Given the description of an element on the screen output the (x, y) to click on. 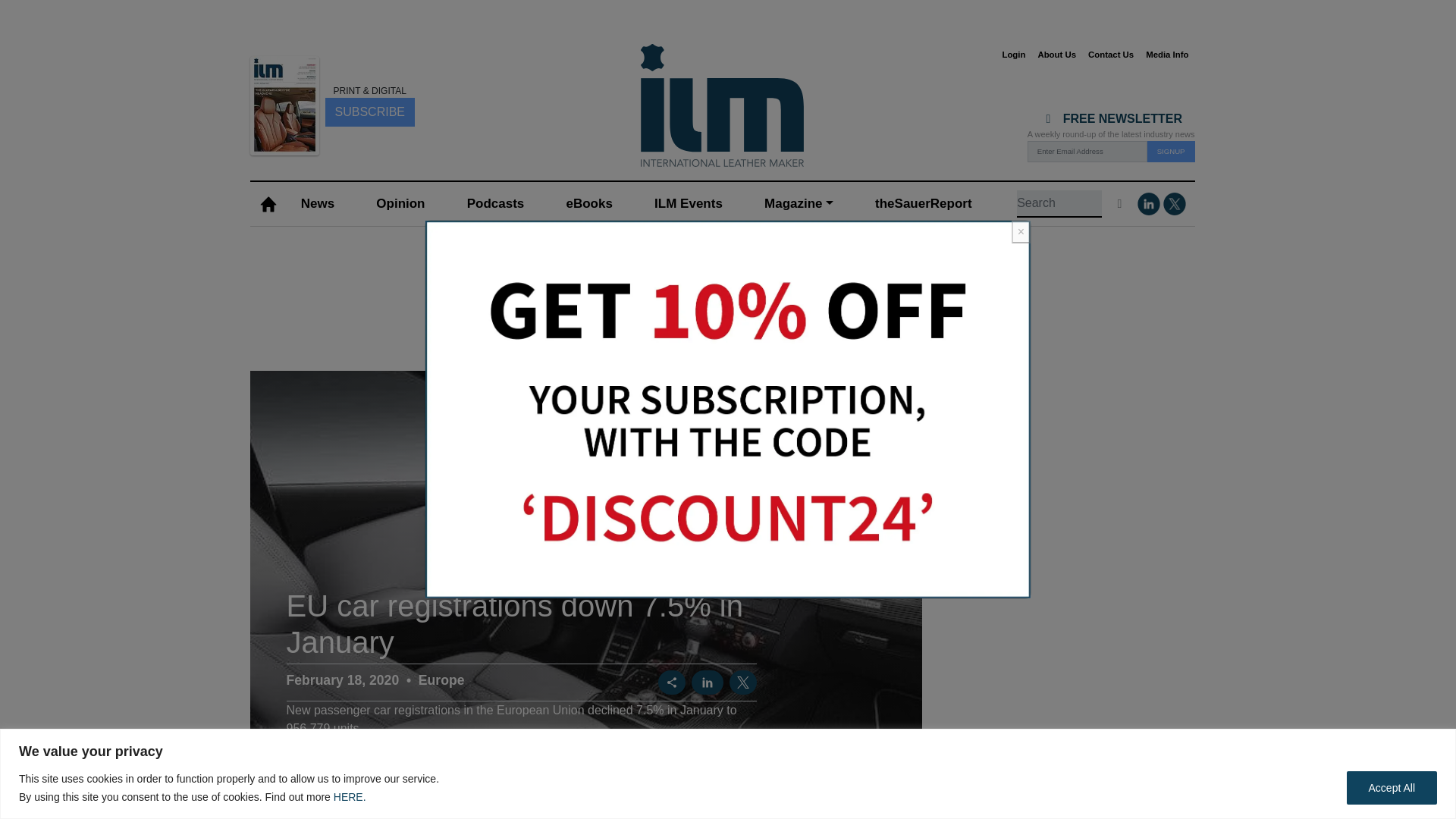
Magazine (797, 204)
theSauerReport (922, 204)
Opinion (400, 204)
News (317, 204)
Login (1012, 54)
Podcasts (494, 204)
SIGNUP (1171, 151)
Media Info (1166, 54)
eBooks (588, 204)
About Us (1055, 54)
